Given the description of an element on the screen output the (x, y) to click on. 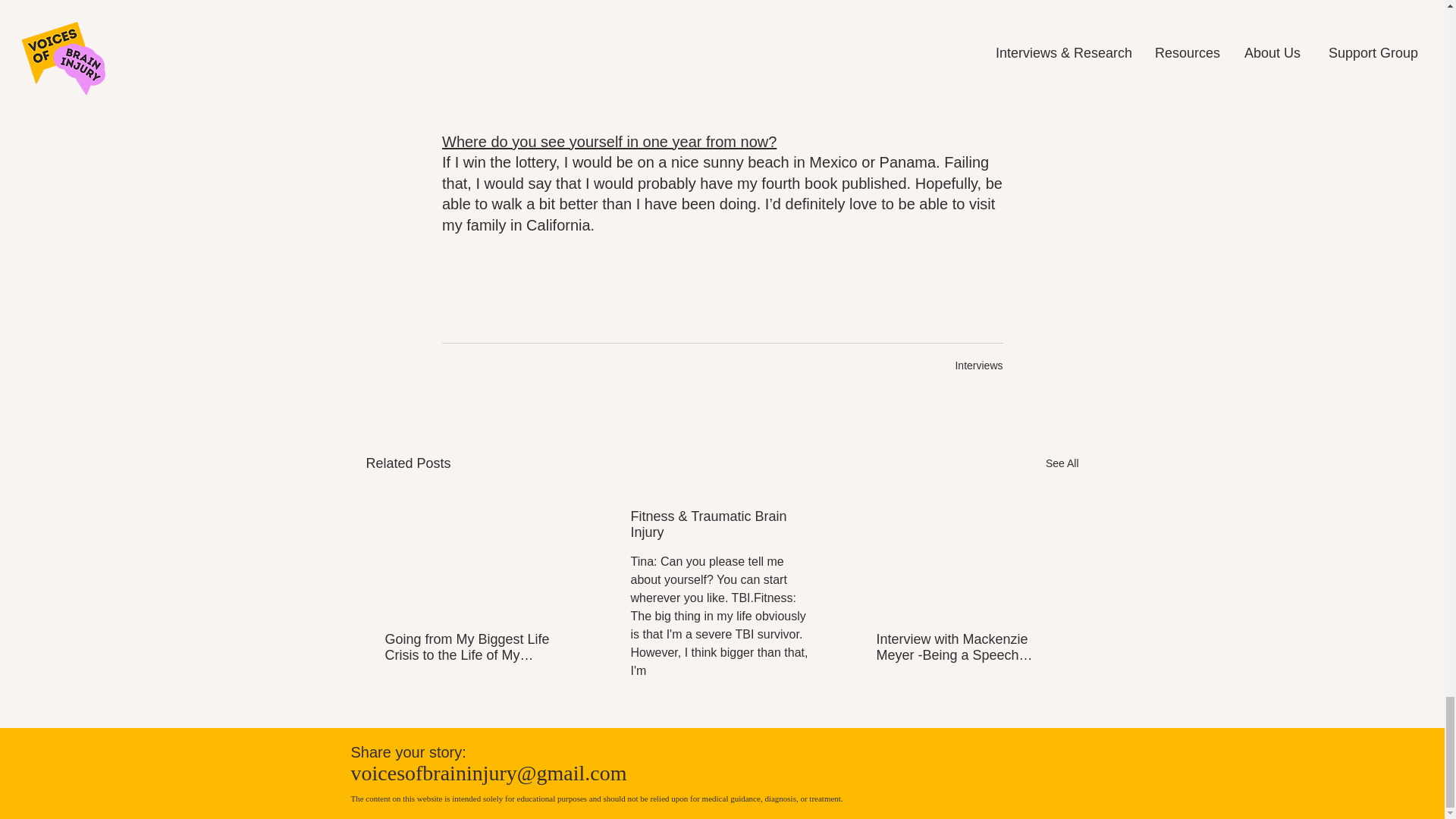
See All (1061, 463)
ail.com (594, 772)
Interviews (979, 365)
